Given the description of an element on the screen output the (x, y) to click on. 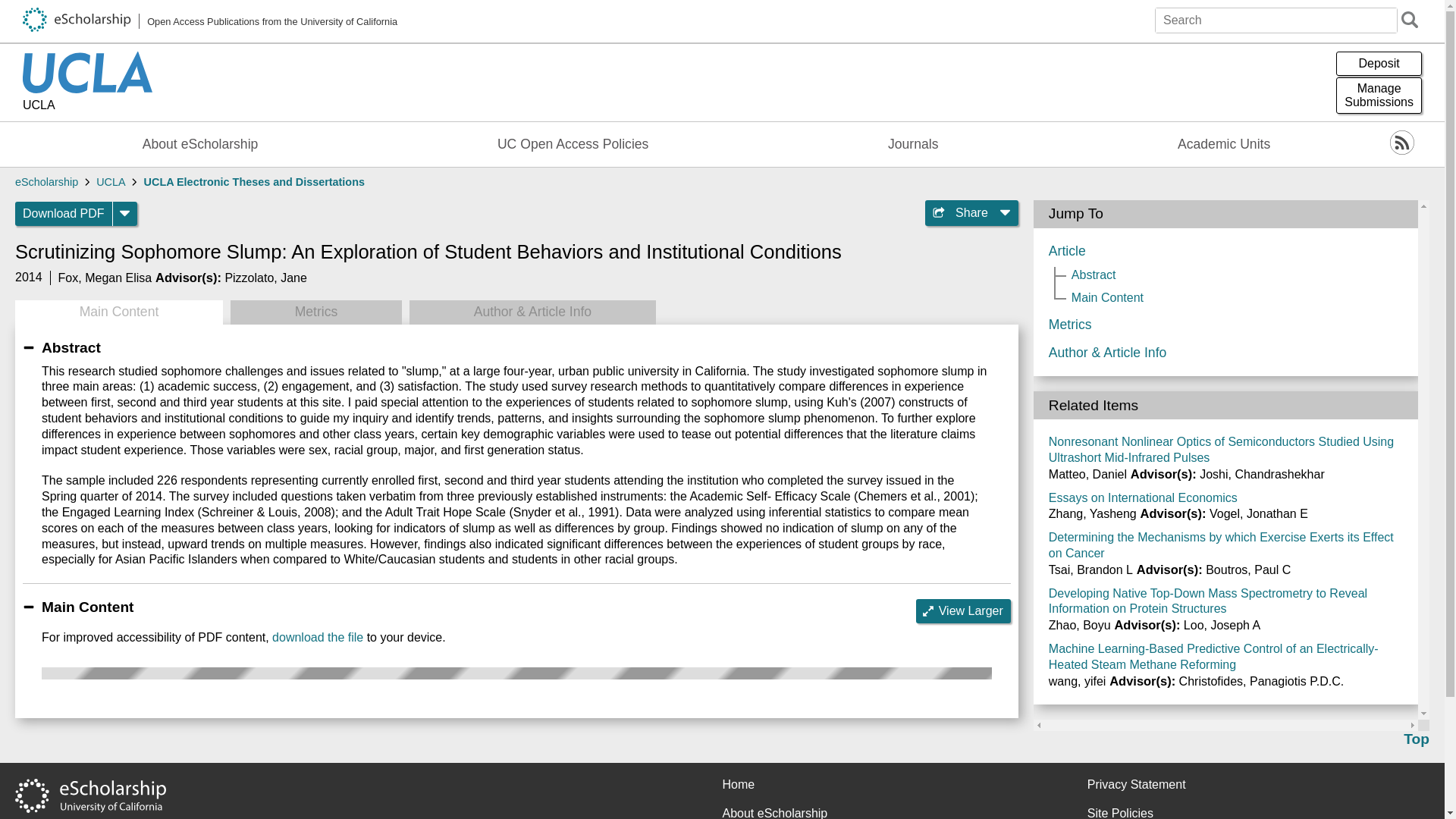
UCLA (87, 105)
Main Content (118, 312)
UCLA Electronic Theses and Dissertations (254, 182)
About eScholarship (200, 143)
download the file (317, 636)
Journals (913, 143)
Download PDF (63, 213)
Academic Units (1224, 143)
eScholarship (46, 182)
Deposit (1379, 63)
UC Open Access Policies (572, 143)
Open Access Publications from the University of California (210, 21)
UCLA (1379, 94)
Fox, Megan Elisa (110, 182)
